Given the description of an element on the screen output the (x, y) to click on. 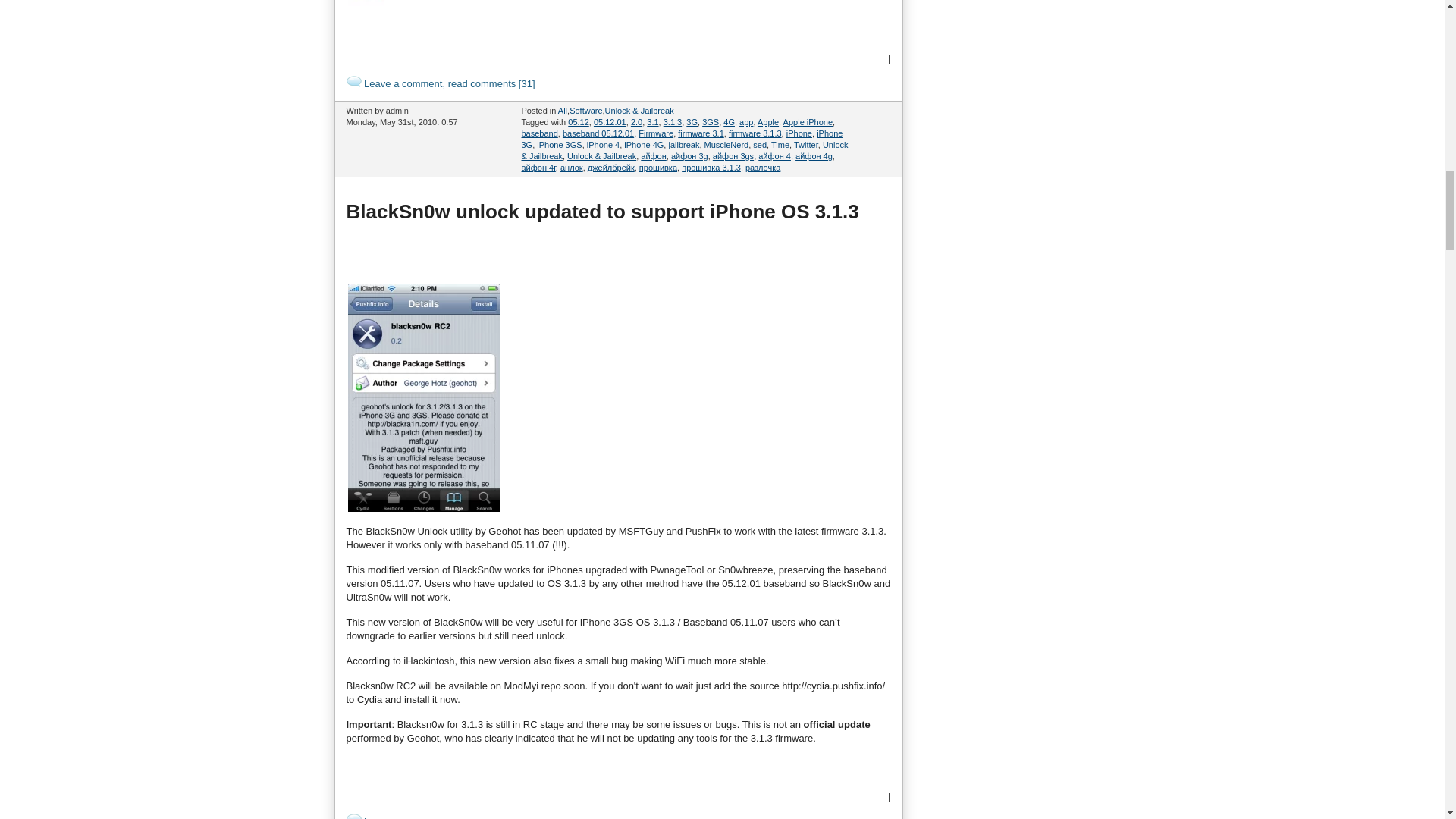
View all posts in All (562, 110)
View all posts in Software (585, 110)
